Given the description of an element on the screen output the (x, y) to click on. 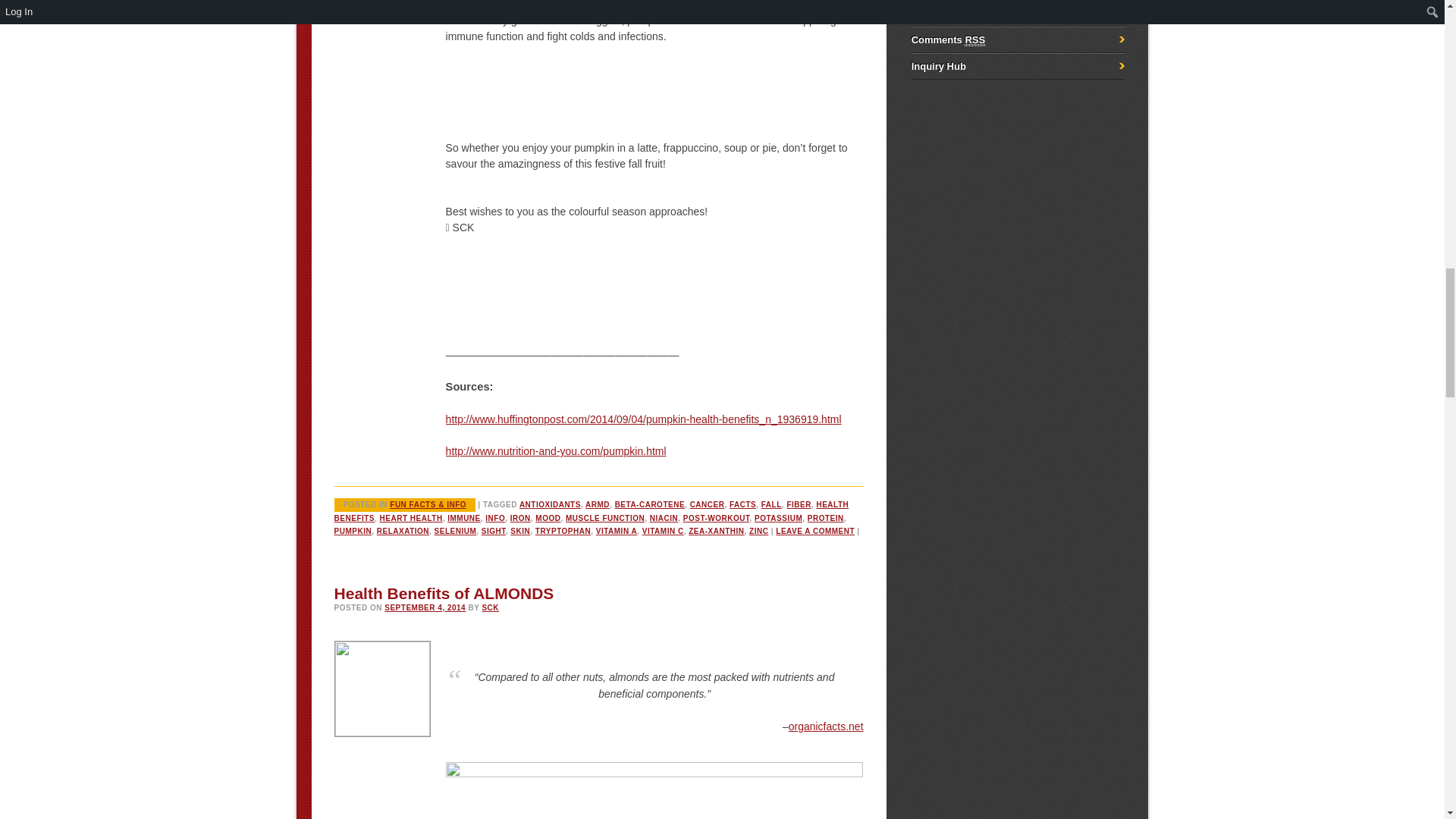
IMMUNE (463, 518)
MOOD (547, 518)
FIBER (798, 504)
BETA-CAROTENE (649, 504)
IRON (521, 518)
HEALTH BENEFITS (591, 511)
Permalink to Health Benefits of ALMONDS (444, 592)
Syndicate this site using RSS 2.0 (939, 13)
Really Simple Syndication (957, 13)
ANTIOXIDANTS (549, 504)
Almond Facts Infographic (654, 790)
HEART HEALTH (411, 518)
CANCER (707, 504)
ARMD (597, 504)
FACTS (742, 504)
